Given the description of an element on the screen output the (x, y) to click on. 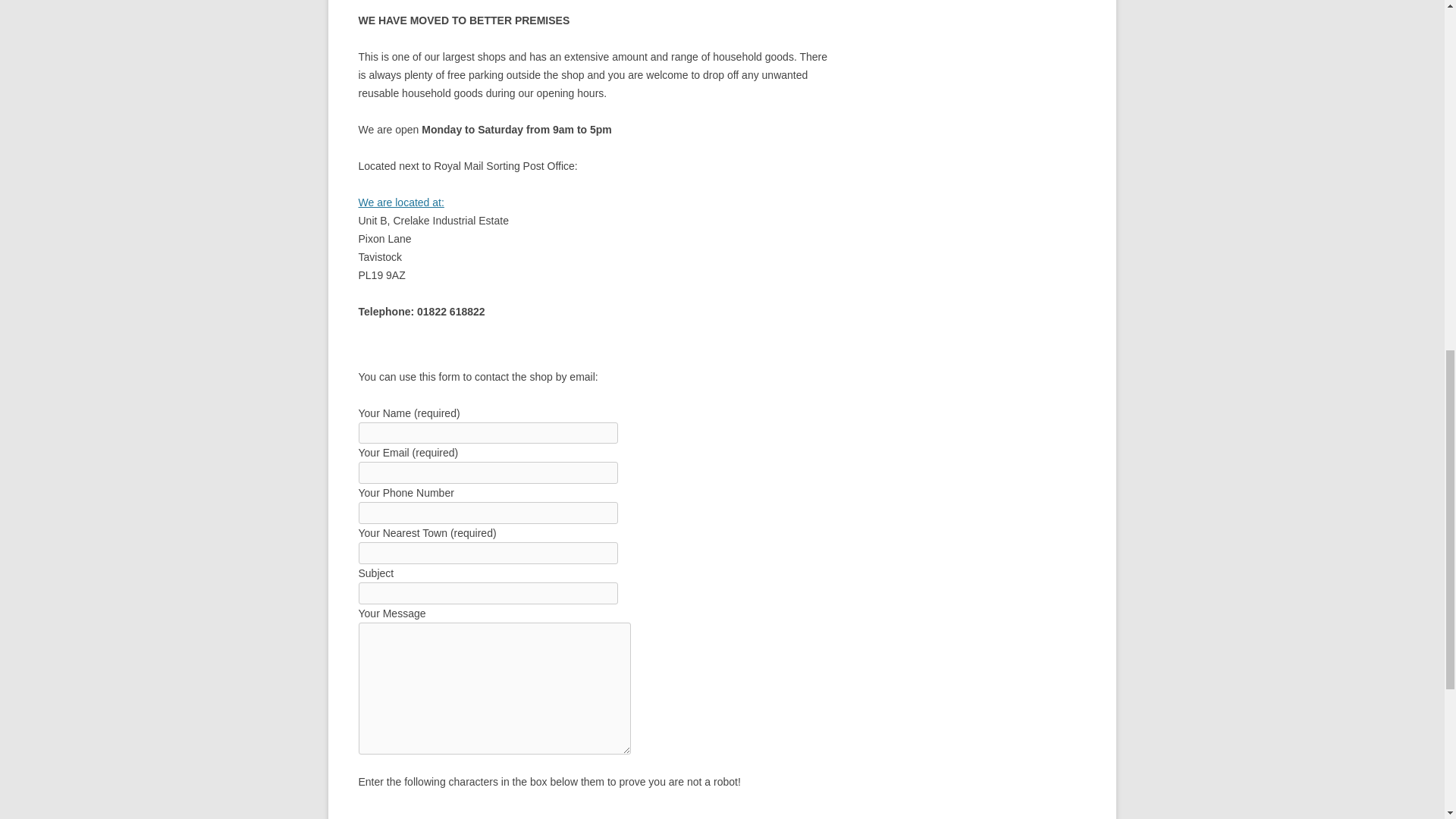
We are located at: (401, 201)
